Given the description of an element on the screen output the (x, y) to click on. 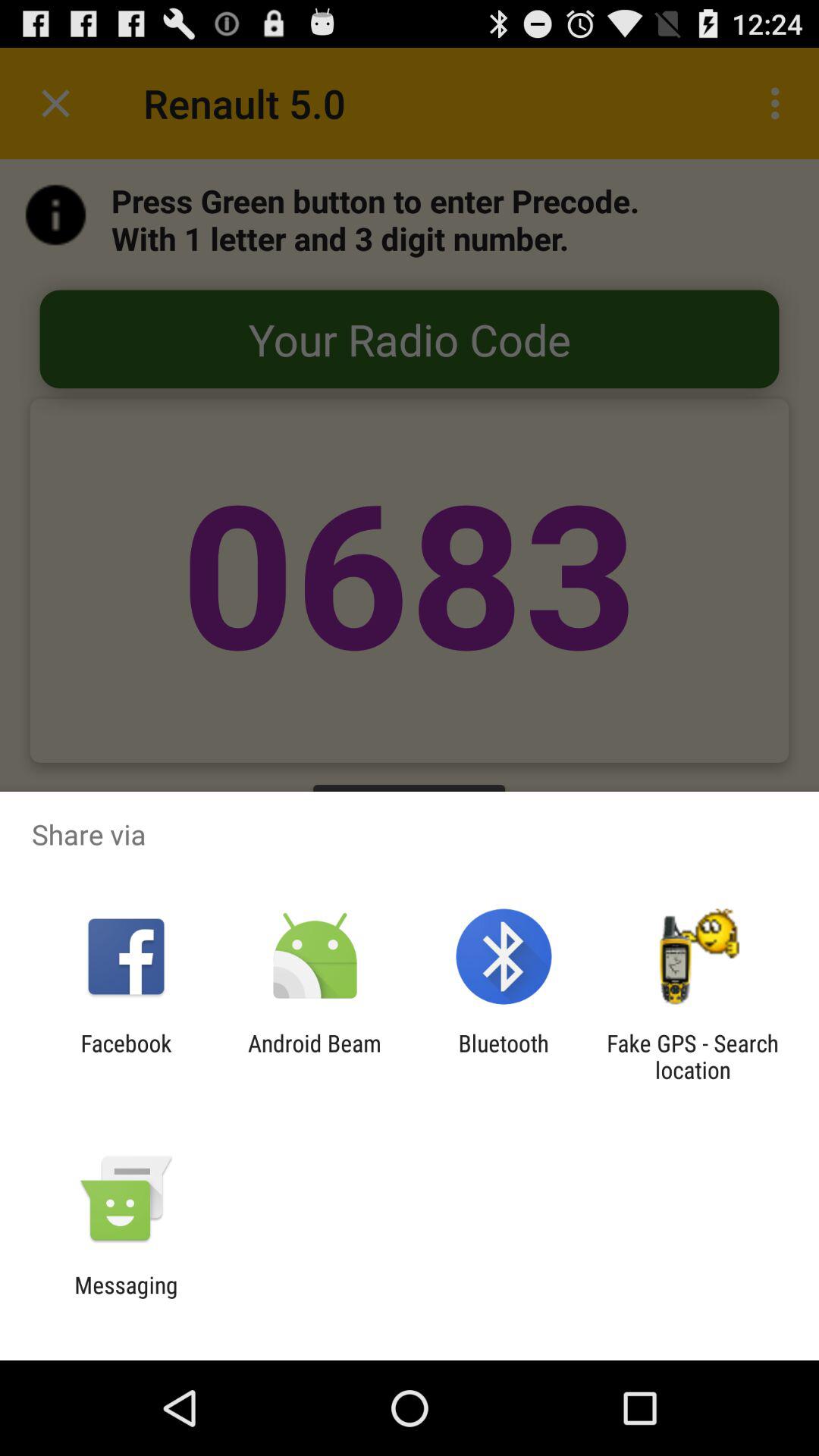
press the app next to the bluetooth item (314, 1056)
